Given the description of an element on the screen output the (x, y) to click on. 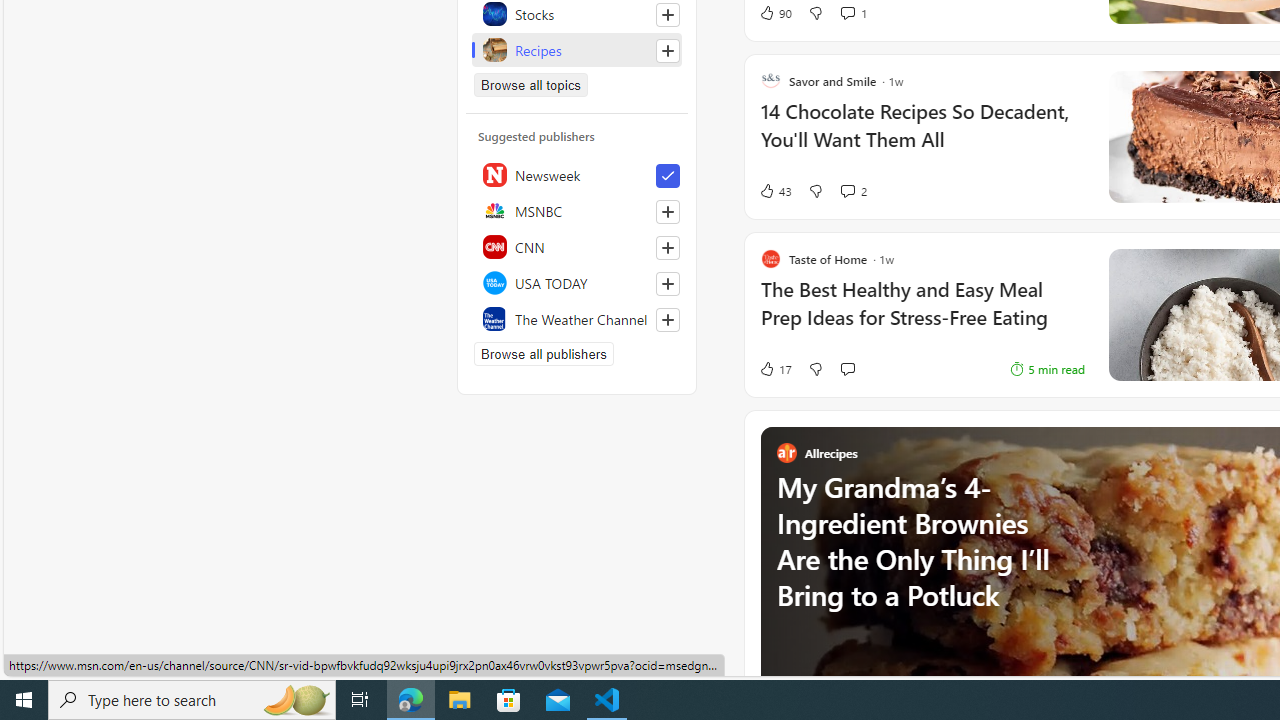
17 Like (775, 368)
43 Like (775, 191)
Newsweek (577, 174)
90 Like (775, 12)
Recipes (577, 49)
Browse all topics (530, 84)
CNN (577, 246)
View comments 2 Comment (847, 190)
